Given the description of an element on the screen output the (x, y) to click on. 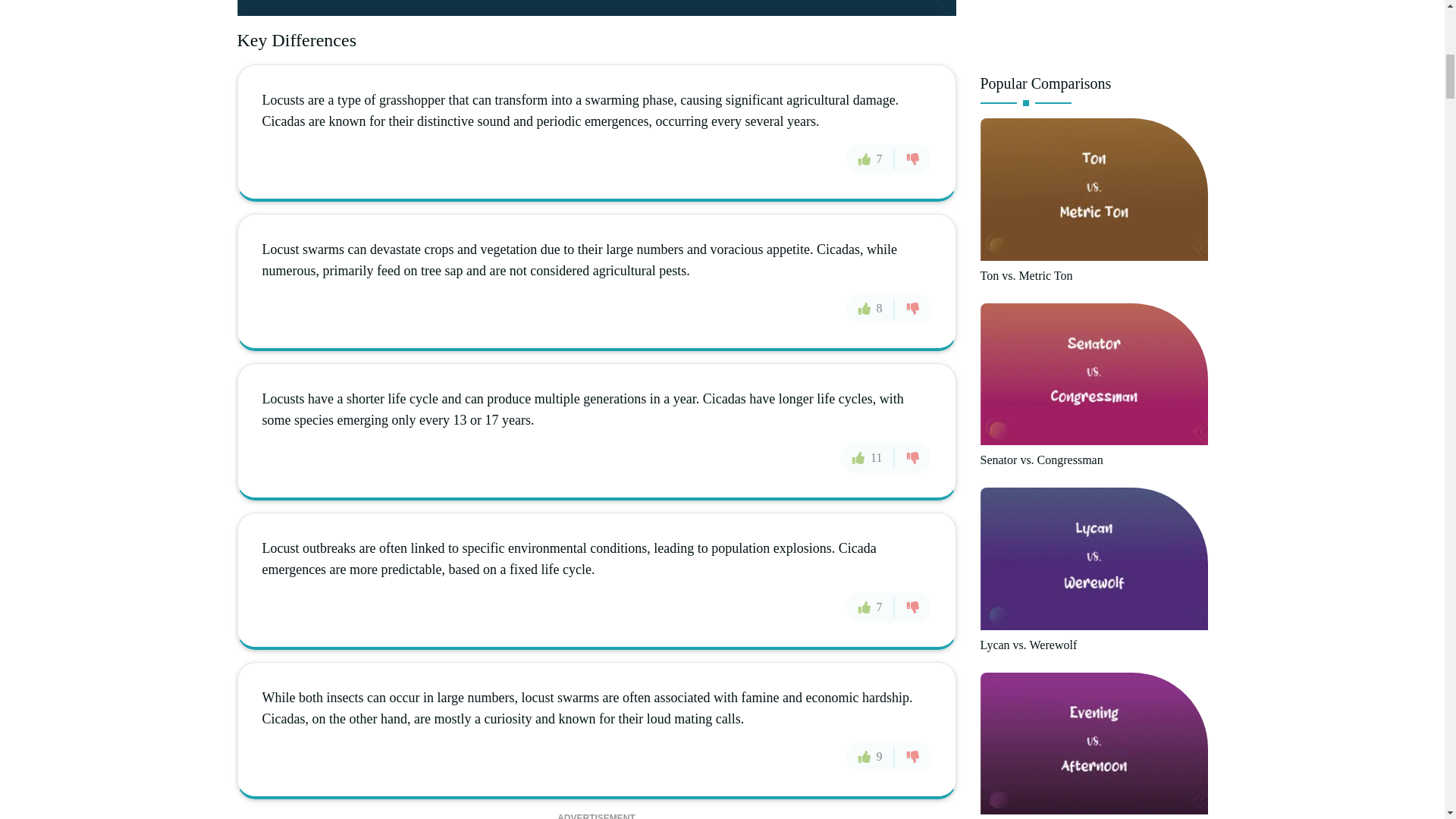
9 (870, 757)
8 (870, 307)
7 (870, 159)
Advertisement (1093, 30)
11 (866, 458)
7 (870, 606)
